Given the description of an element on the screen output the (x, y) to click on. 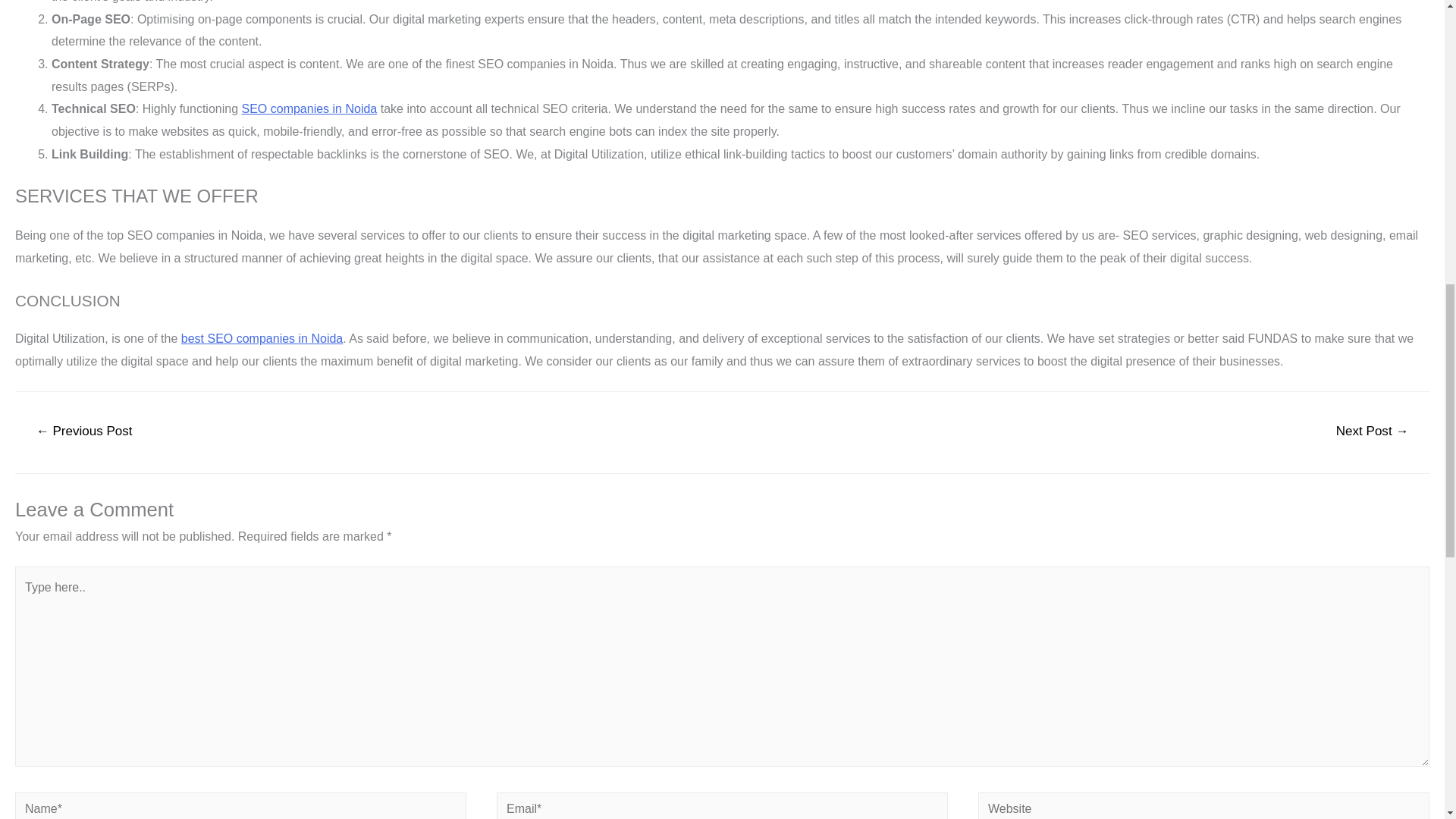
best SEO companies in Noida (261, 338)
SEO companies in Noida (309, 108)
